Given the description of an element on the screen output the (x, y) to click on. 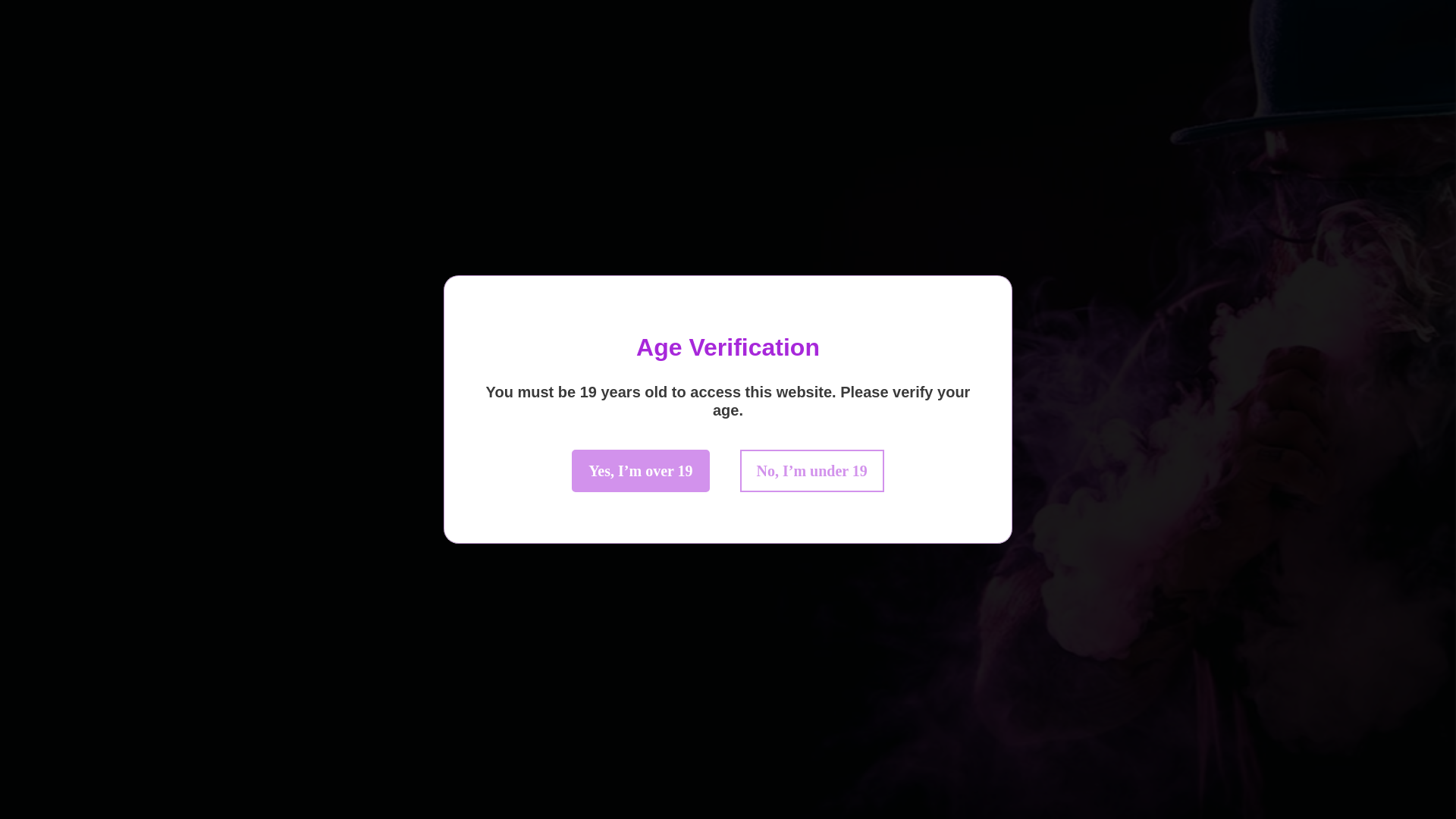
Disposable Vapes (636, 76)
Quick Shop (524, 76)
Skip to content (11, 7)
